Given the description of an element on the screen output the (x, y) to click on. 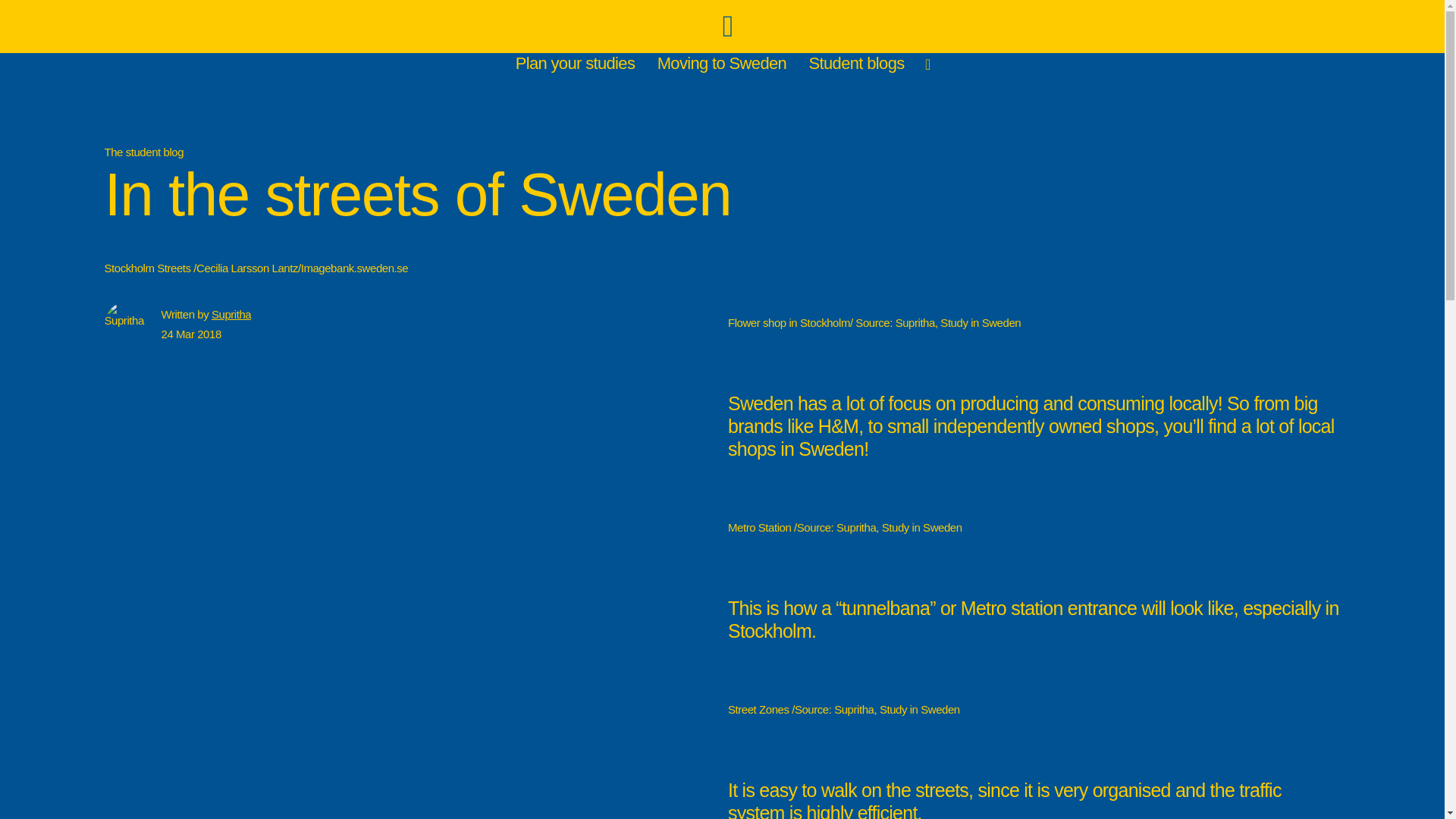
Moving to Sweden  (724, 64)
Supritha (230, 314)
Plan your studies  (577, 64)
Student blogs  (858, 64)
